Given the description of an element on the screen output the (x, y) to click on. 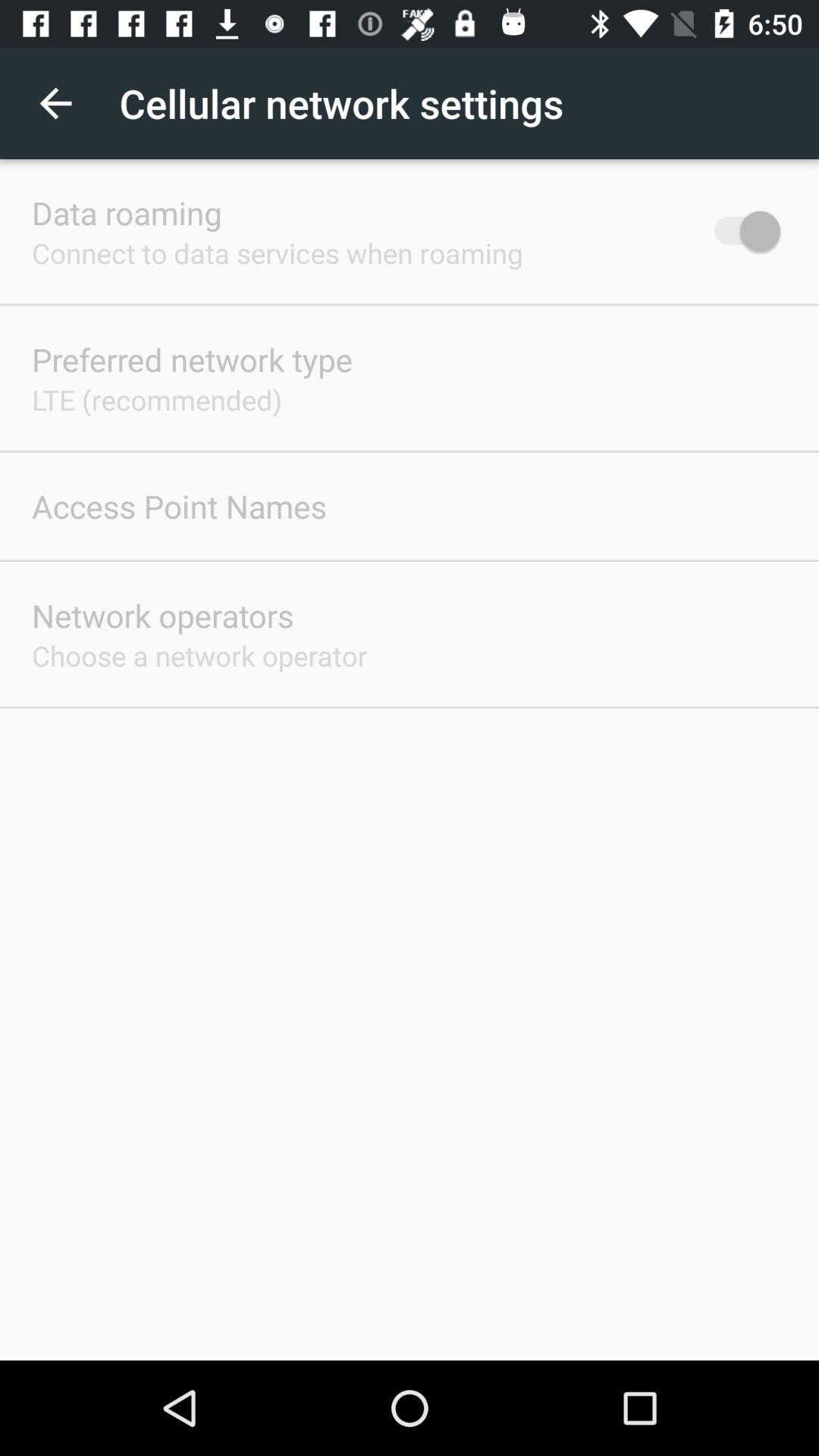
scroll until preferred network type (191, 359)
